Given the description of an element on the screen output the (x, y) to click on. 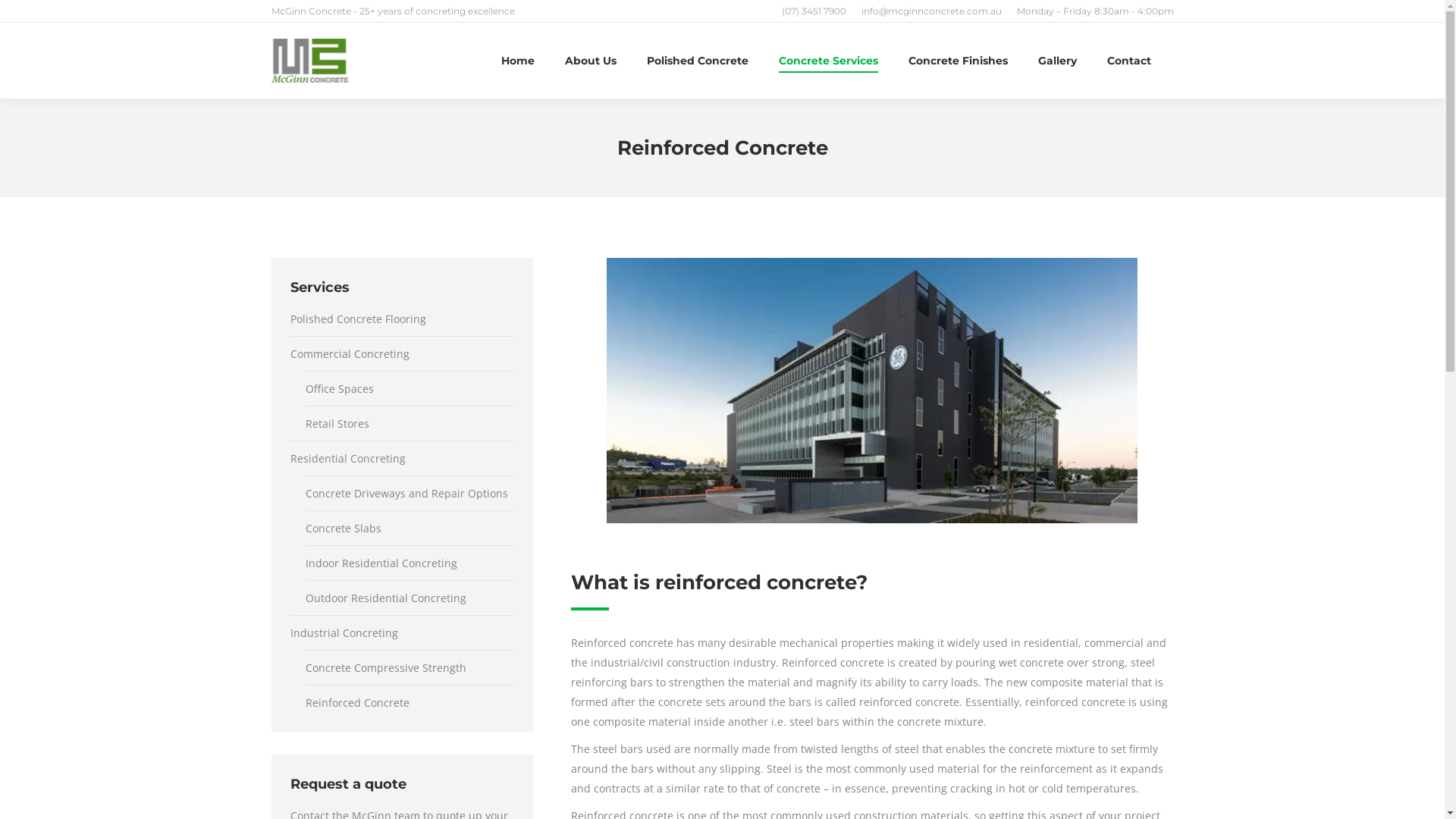
Polished Concrete Element type: text (696, 60)
Indoor Residential Concreting Element type: text (380, 563)
Concrete Finishes Element type: text (957, 60)
Contact Element type: text (1129, 60)
Concrete Driveways and Repair Options Element type: text (405, 493)
Gallery Element type: text (1056, 60)
Outdoor Residential Concreting Element type: text (384, 598)
(07) 3451 7900 Element type: text (813, 11)
Retail Stores Element type: text (336, 423)
Industrial Concreting Element type: text (343, 633)
Commercial Concreting Element type: text (348, 354)
Go! Element type: text (24, 16)
info@mcginnconcrete.com.au Element type: text (931, 11)
Polished Concrete Flooring Element type: text (357, 319)
Office Spaces Element type: text (338, 388)
Concrete Compressive Strength Element type: text (384, 667)
Concrete Services Element type: text (827, 60)
Home Element type: text (516, 60)
Concrete Slabs Element type: text (342, 528)
Reinforced Concrete Element type: text (356, 702)
About Us Element type: text (589, 60)
Residential Concreting Element type: text (346, 458)
